Given the description of an element on the screen output the (x, y) to click on. 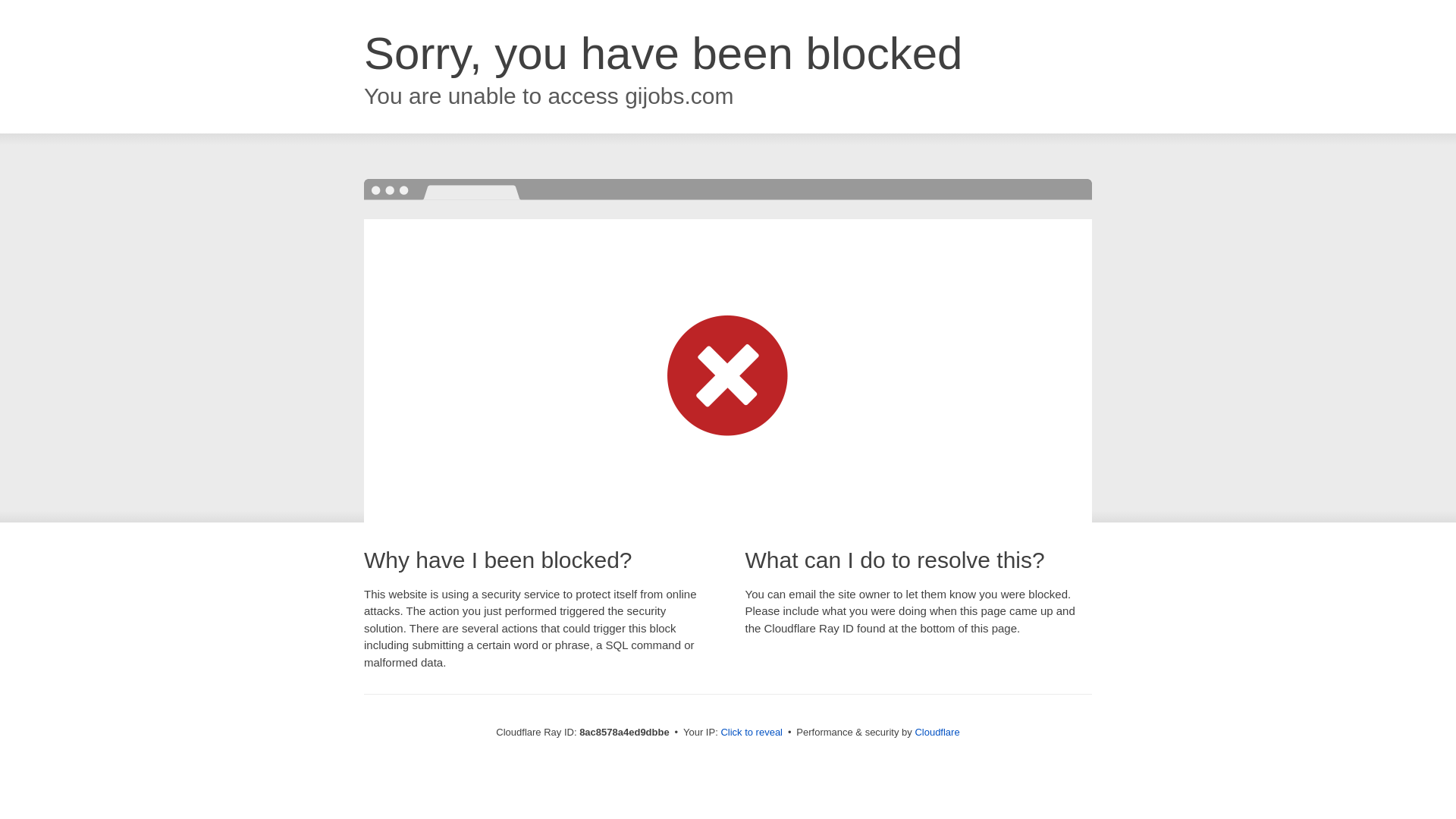
Click to reveal (751, 732)
Cloudflare (936, 731)
